Given the description of an element on the screen output the (x, y) to click on. 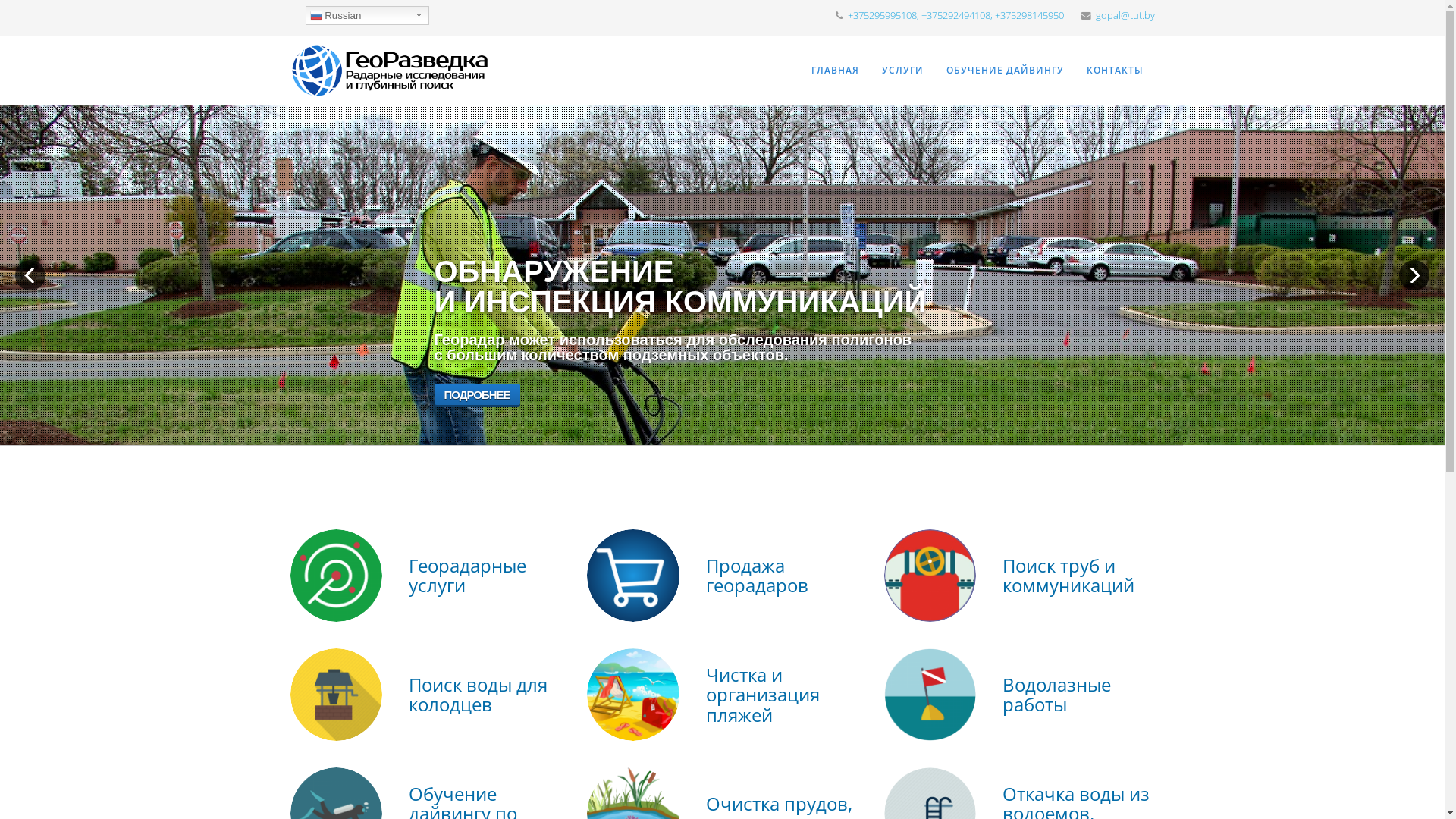
+375295995108; +375292494108; +375298145950 Element type: text (955, 15)
Russian Element type: text (366, 15)
gopal@tut.by Element type: text (1124, 15)
